Given the description of an element on the screen output the (x, y) to click on. 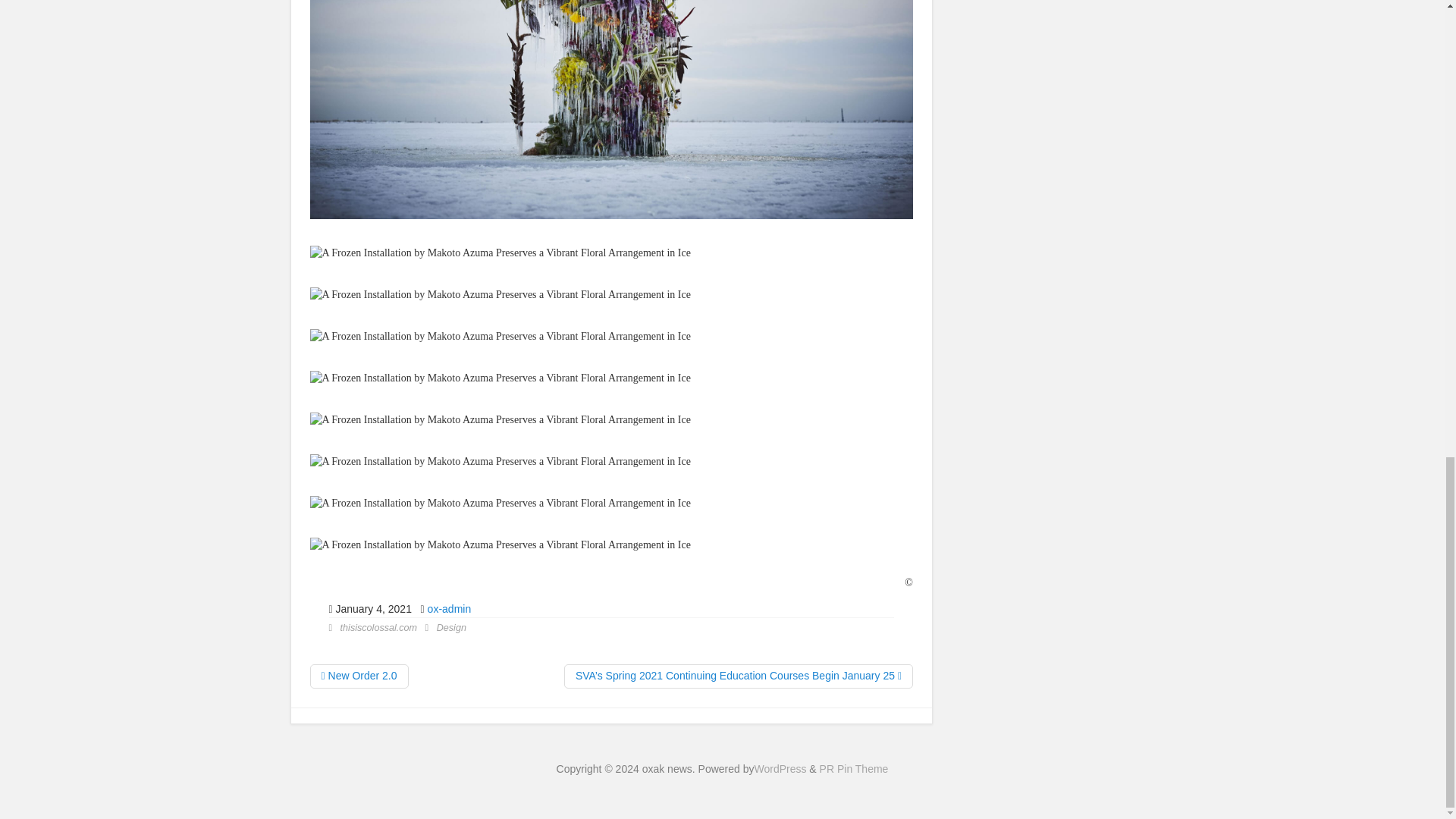
WordPress (780, 768)
ox-admin (449, 608)
PR Pin Theme (853, 768)
Posts by ox-admin (449, 608)
Design (450, 627)
thisiscolossal.com (378, 627)
WordPress (780, 768)
New Order 2.0 (357, 676)
PR Pin Theme (853, 768)
